Given the description of an element on the screen output the (x, y) to click on. 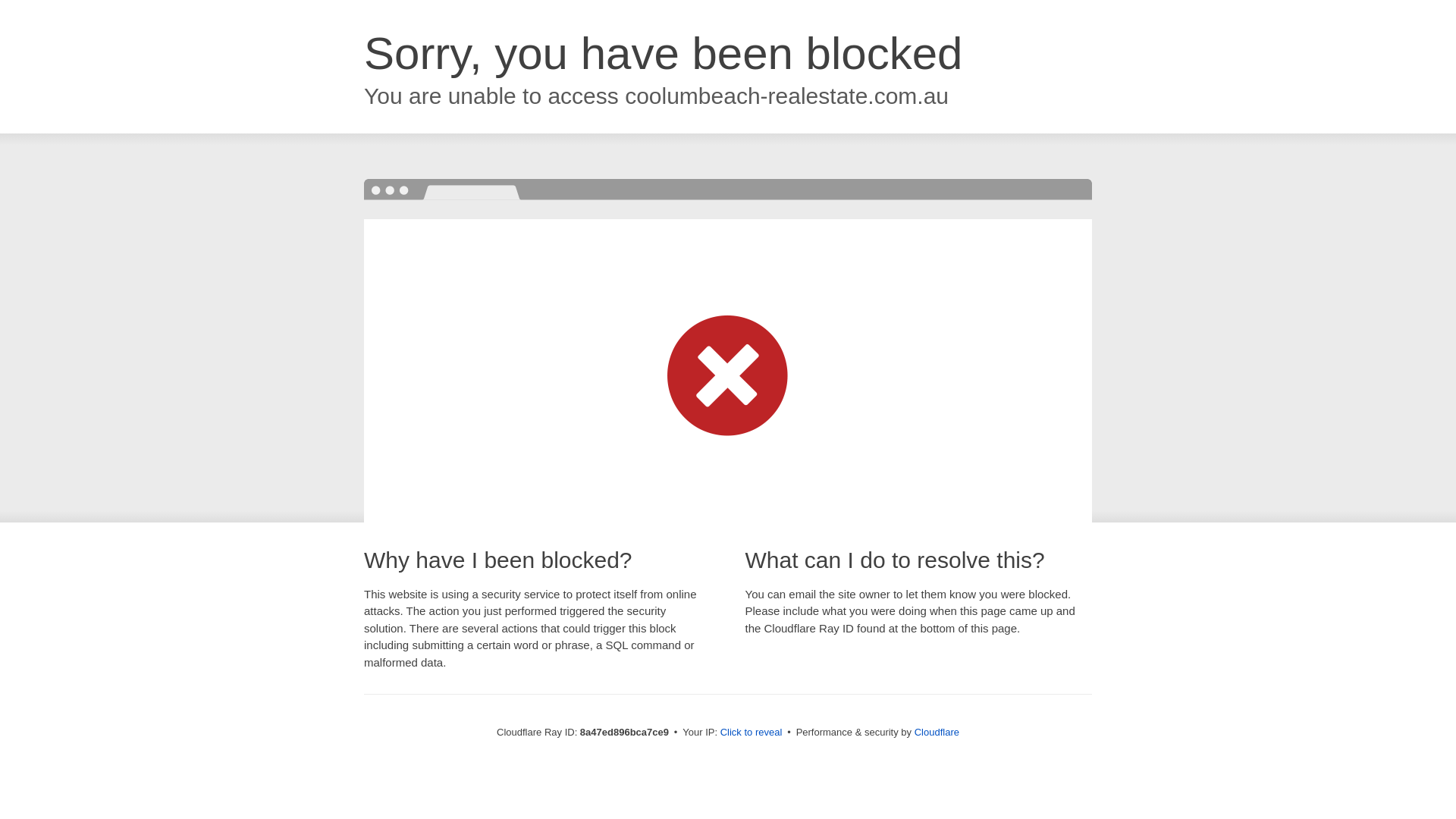
Click to reveal (751, 732)
Cloudflare (936, 731)
